Given the description of an element on the screen output the (x, y) to click on. 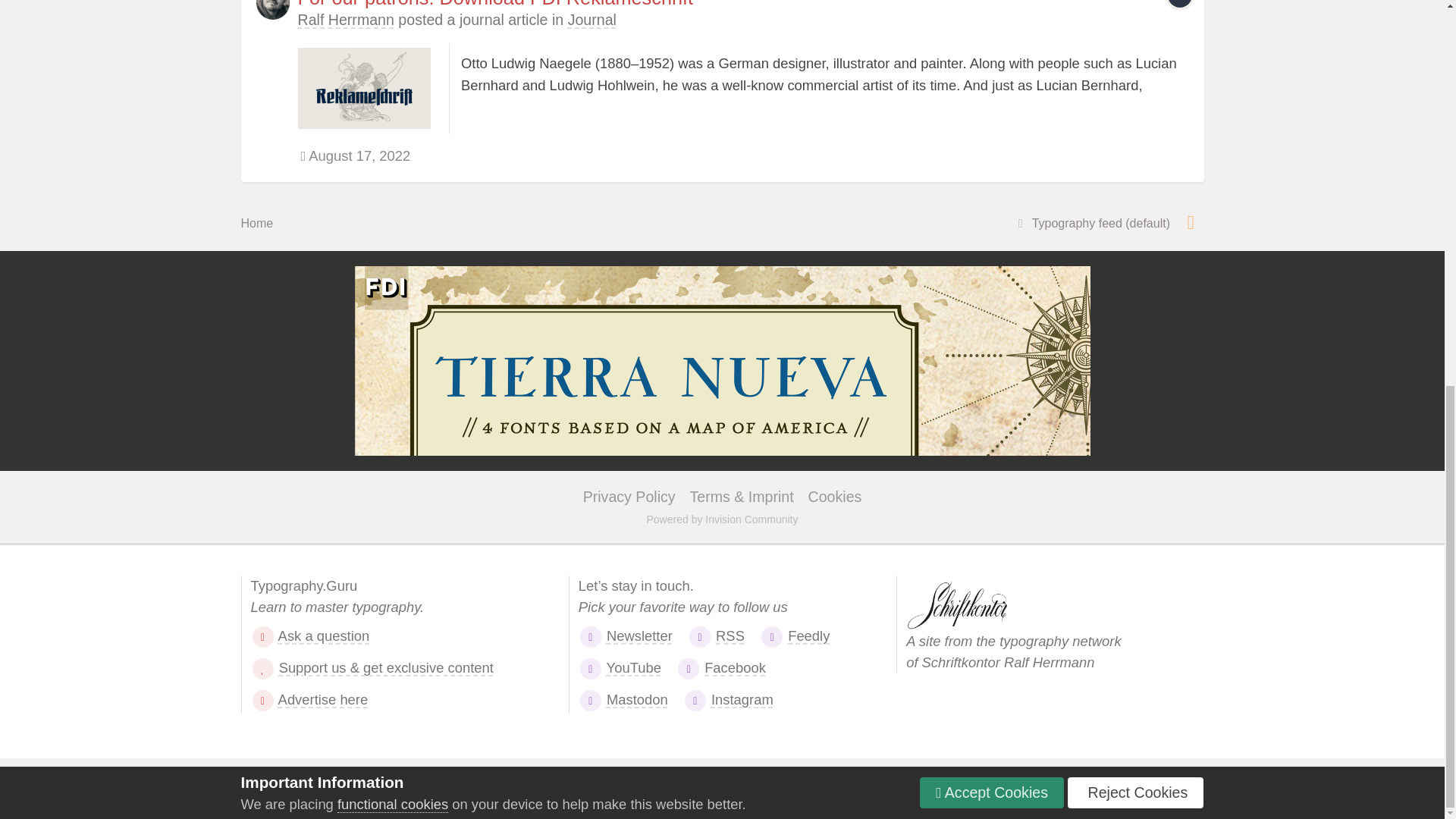
Available RSS feeds (1190, 222)
Go to Ralf Herrmann's profile (345, 19)
Journal article (1179, 3)
Home (257, 223)
Go to Ralf Herrmann's profile (272, 9)
Invision Community (721, 519)
